Given the description of an element on the screen output the (x, y) to click on. 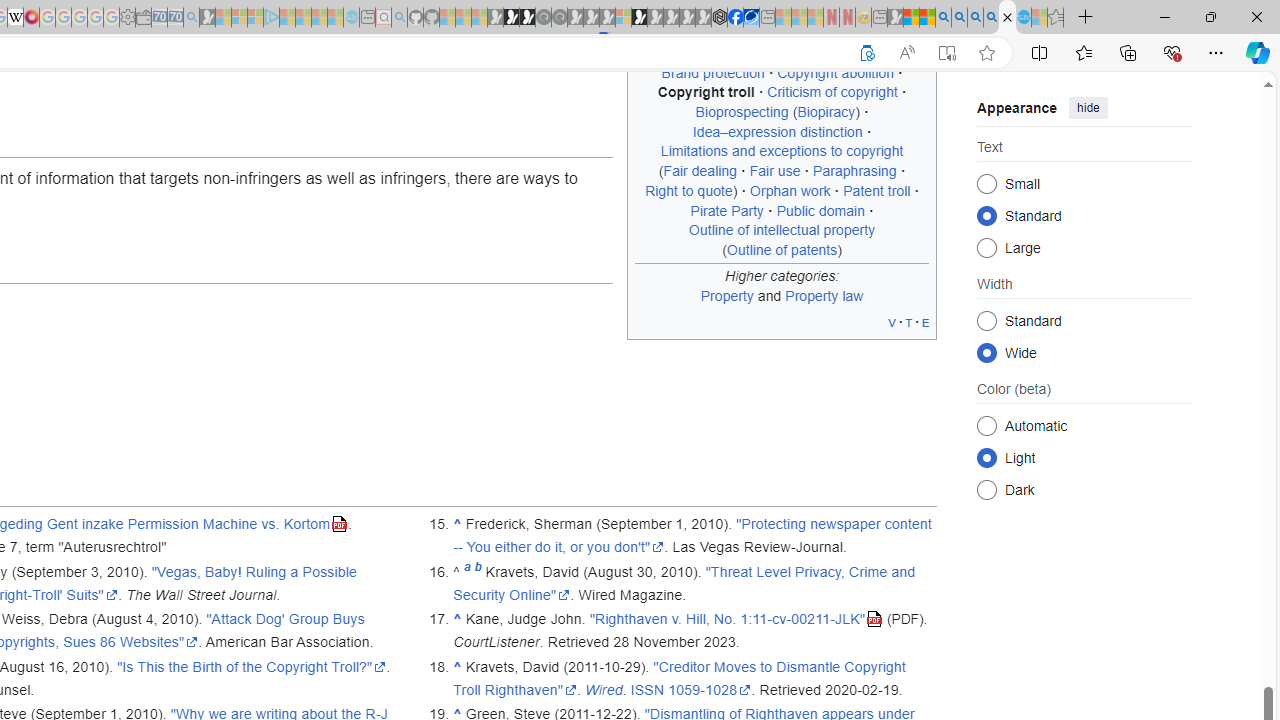
e (925, 322)
Future Focus Report 2024 - Sleeping (559, 17)
Microsoft Start Gaming - Sleeping (207, 17)
v (892, 322)
AirNow.gov (751, 17)
Large (986, 246)
Class: mw-list-item mw-list-item-js (1084, 457)
Copyright abolition (835, 72)
(Biopiracy) (826, 111)
